Given the description of an element on the screen output the (x, y) to click on. 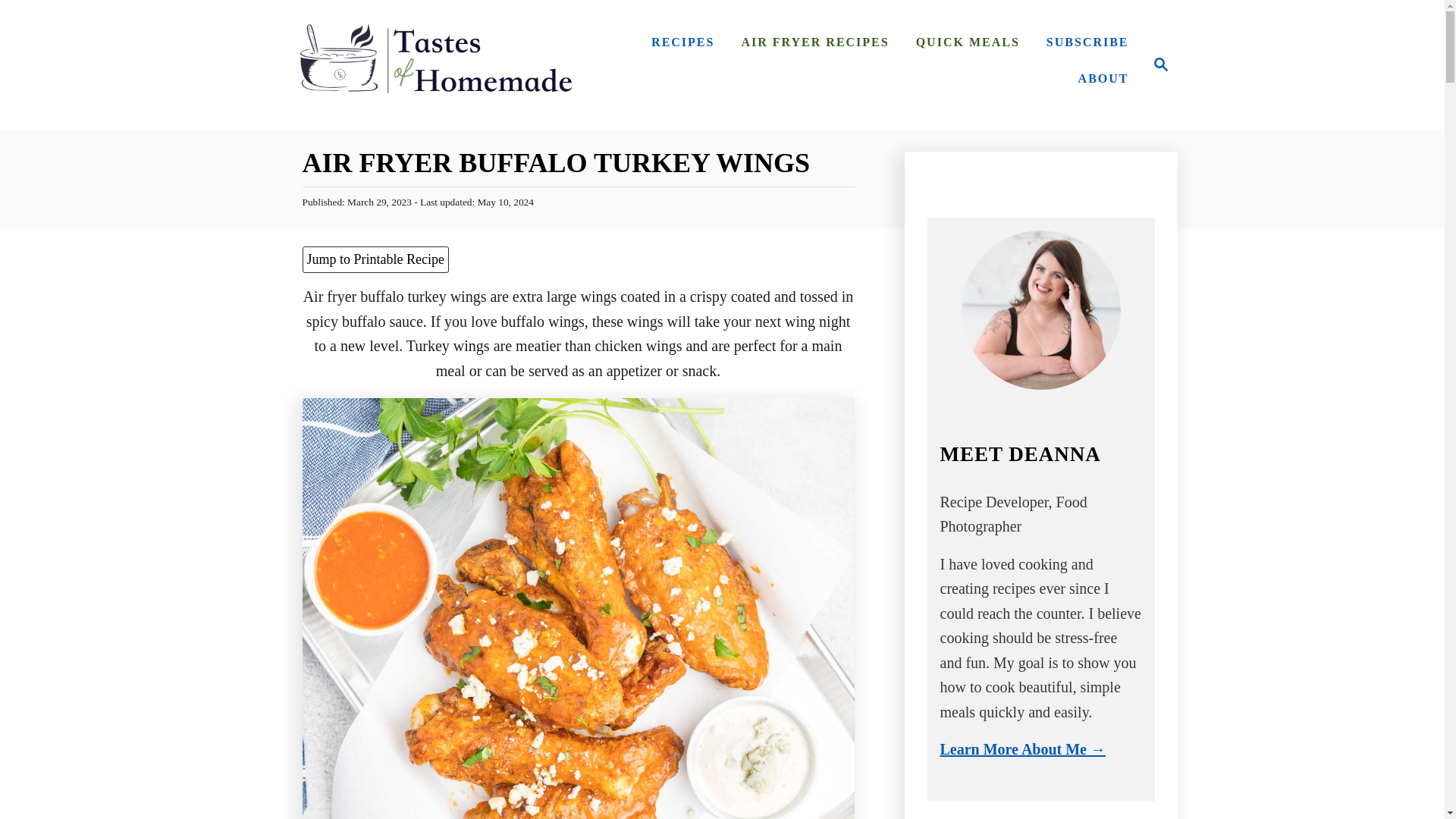
ABOUT (1103, 78)
Tastes of Homemade (433, 64)
RECIPES (682, 41)
QUICK MEALS (967, 41)
SUBSCRIBE (1088, 41)
Magnifying Glass (1155, 64)
AIR FRYER RECIPES (1160, 64)
